Given the description of an element on the screen output the (x, y) to click on. 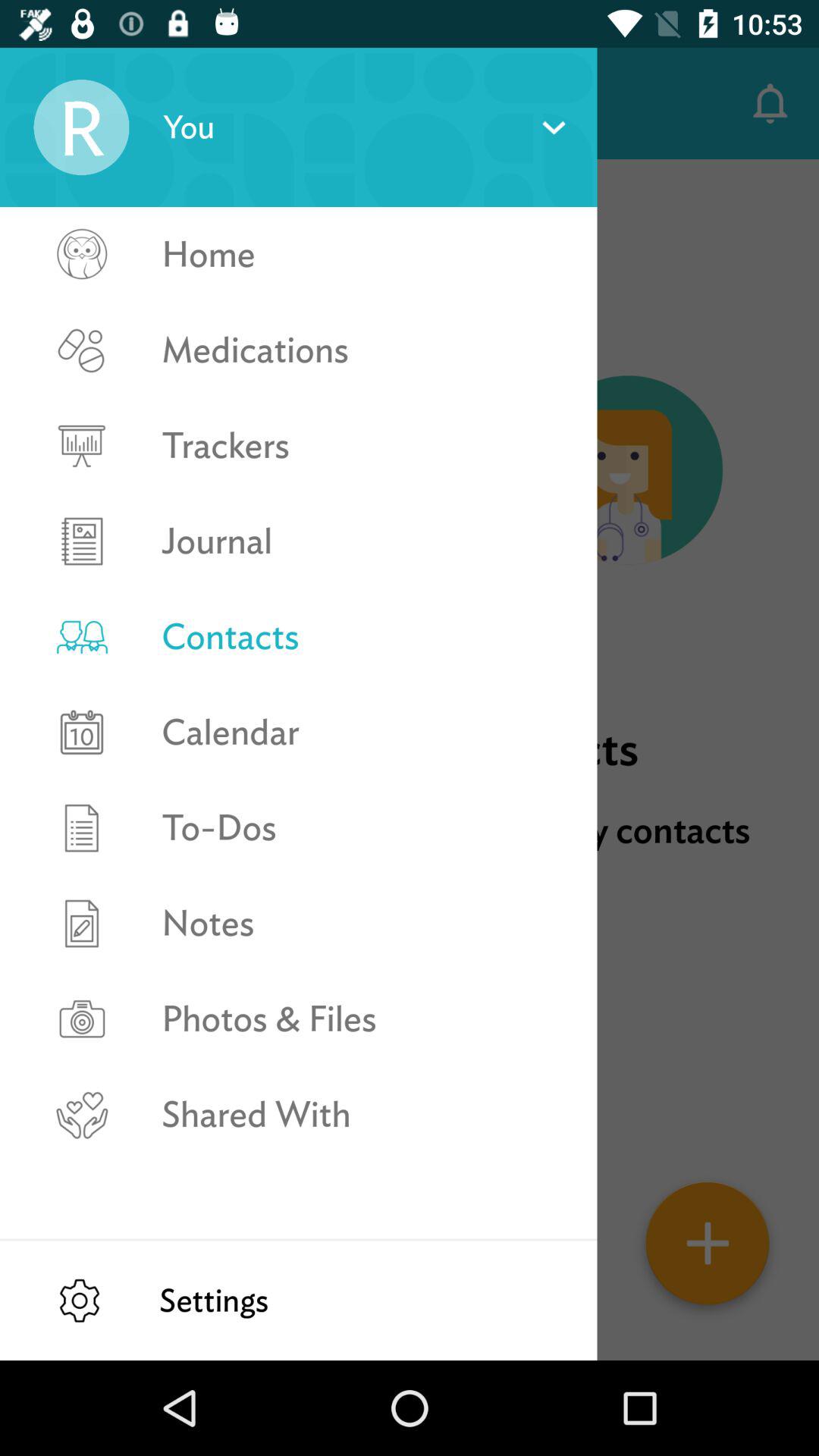
choose icon above journal item (363, 445)
